Given the description of an element on the screen output the (x, y) to click on. 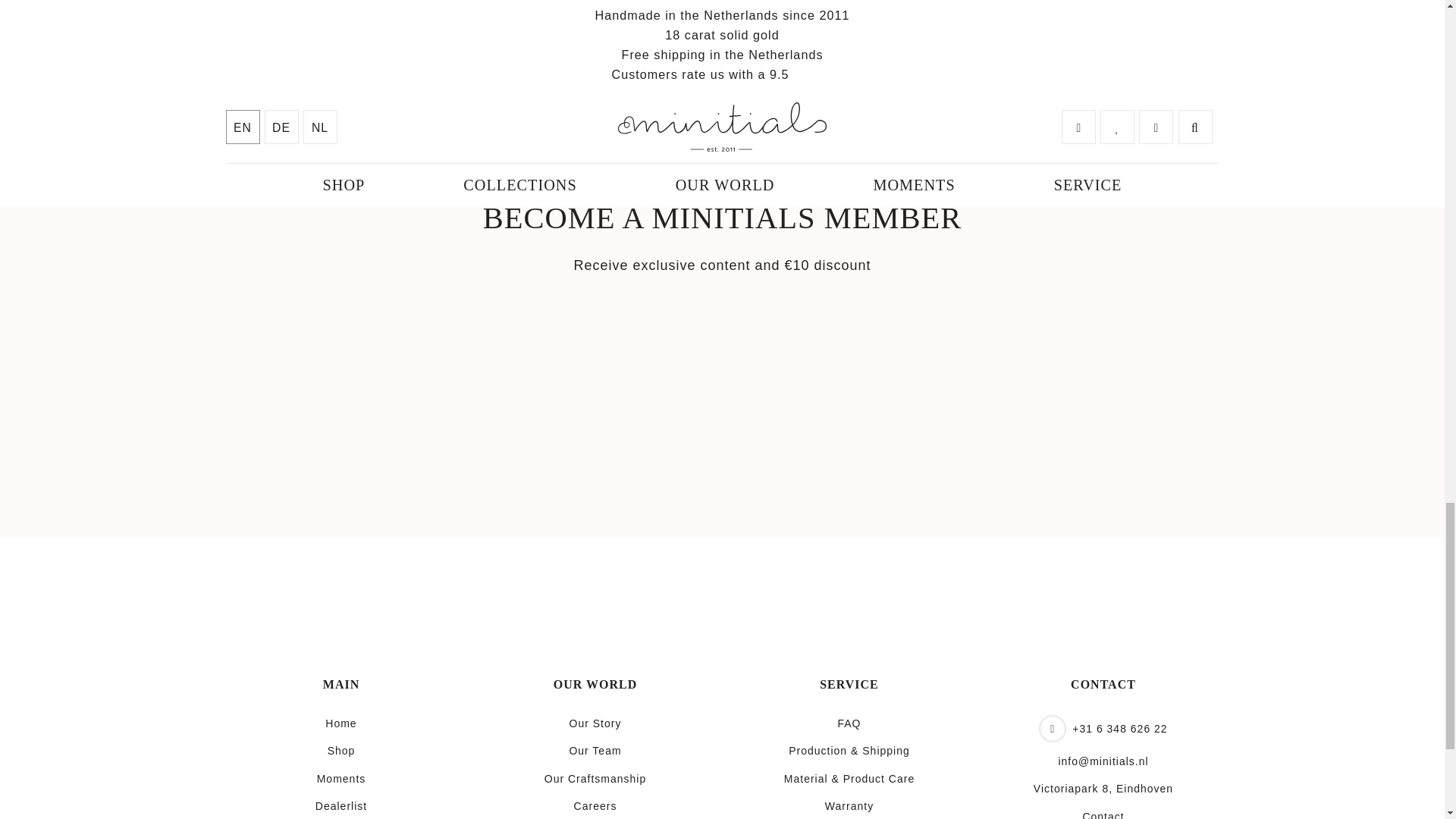
Minitials (696, 590)
